Given the description of an element on the screen output the (x, y) to click on. 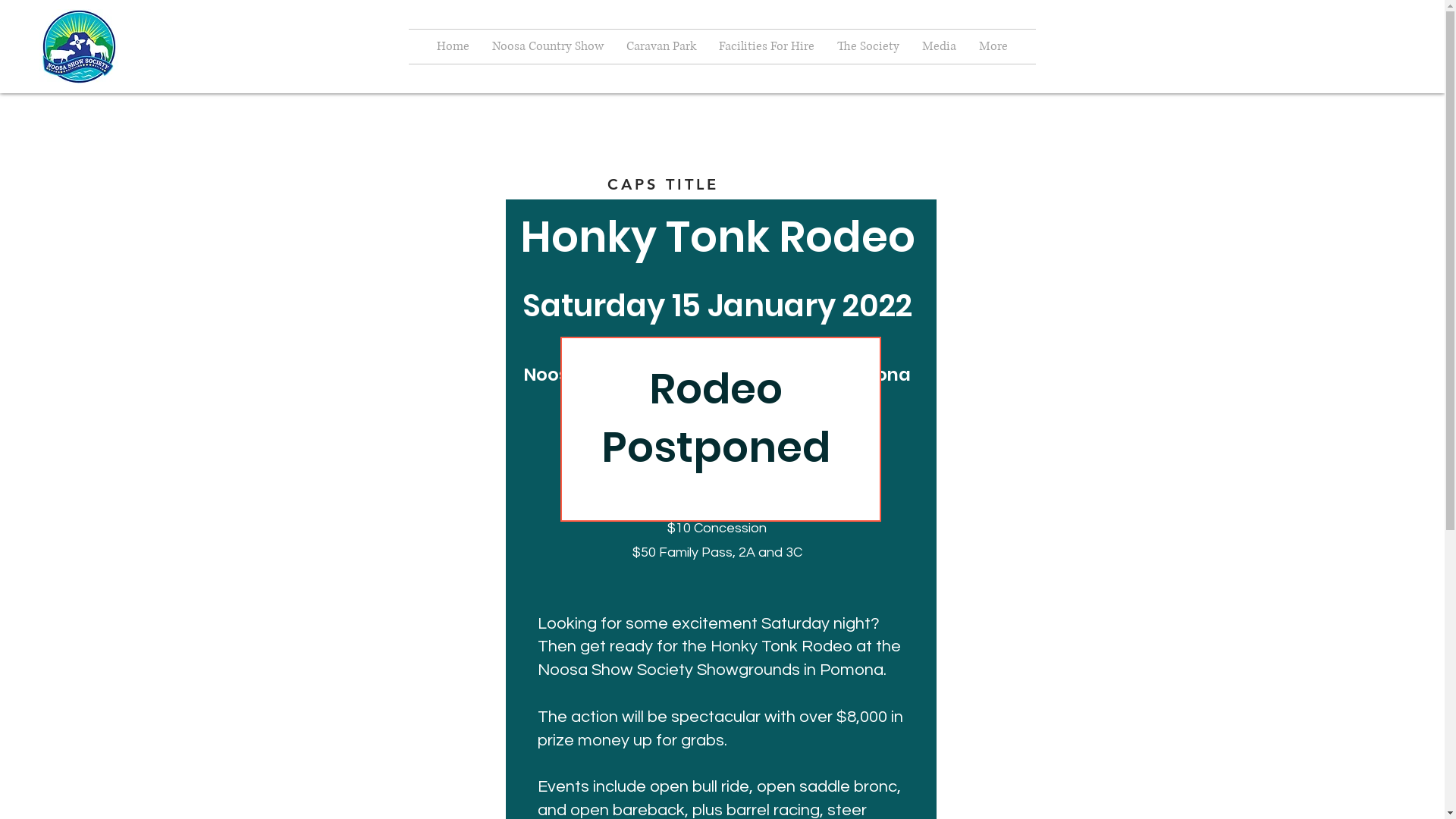
Facilities For Hire Element type: text (765, 46)
NSS Final Col Logo Current 2019.jpg Element type: hover (79, 46)
Caravan Park Element type: text (660, 46)
Media Element type: text (938, 46)
The Society Element type: text (867, 46)
Noosa Country Show Element type: text (547, 46)
Home Element type: text (452, 46)
